Given the description of an element on the screen output the (x, y) to click on. 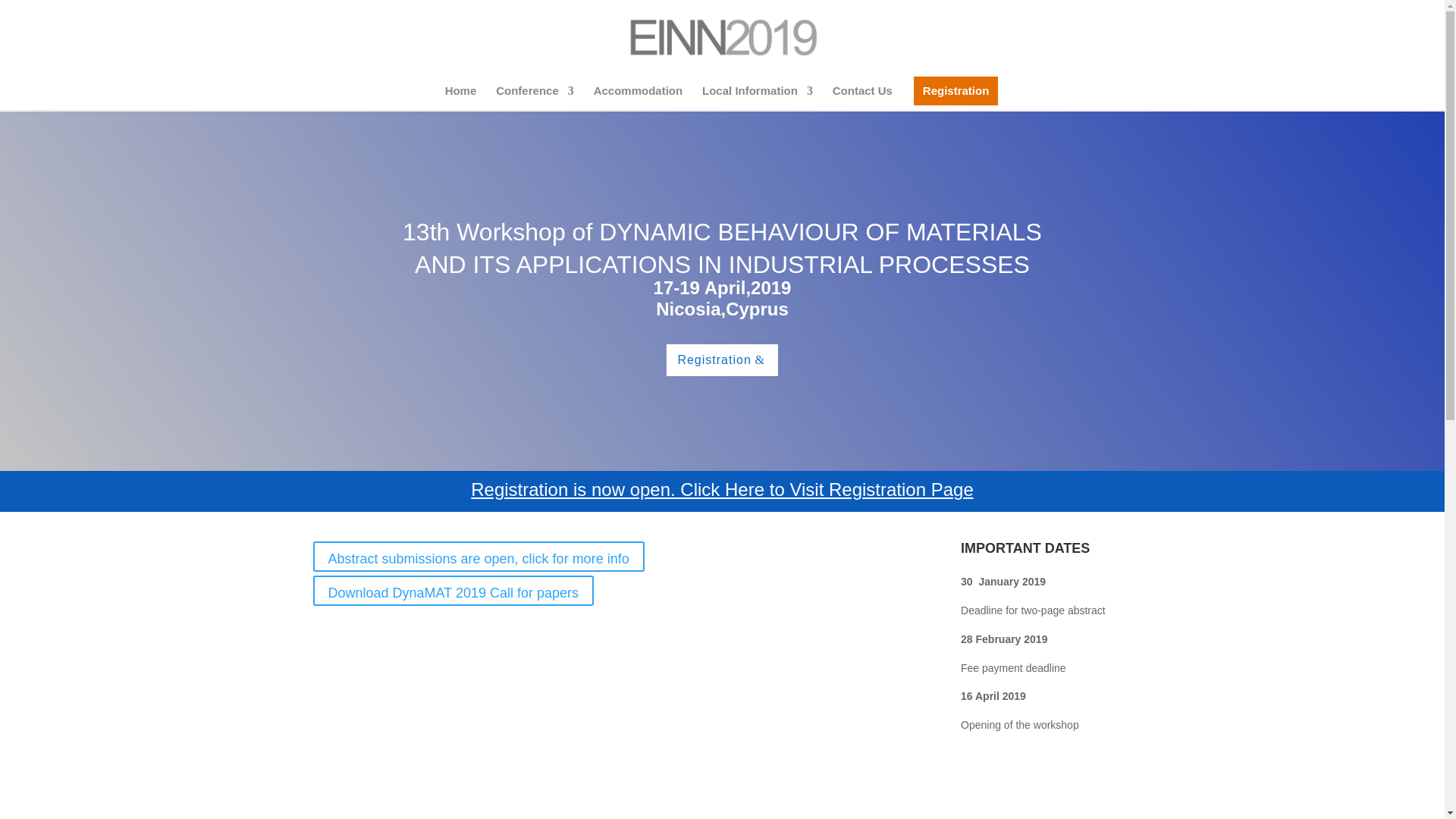
Abstract submissions are open, click for more info (478, 556)
Local Information (756, 97)
Download DynaMAT 2019 Call for papers (453, 590)
Registration (721, 359)
Home (461, 97)
Registration (956, 97)
Contact Us (862, 97)
Conference (534, 97)
Accommodation (638, 97)
